Given the description of an element on the screen output the (x, y) to click on. 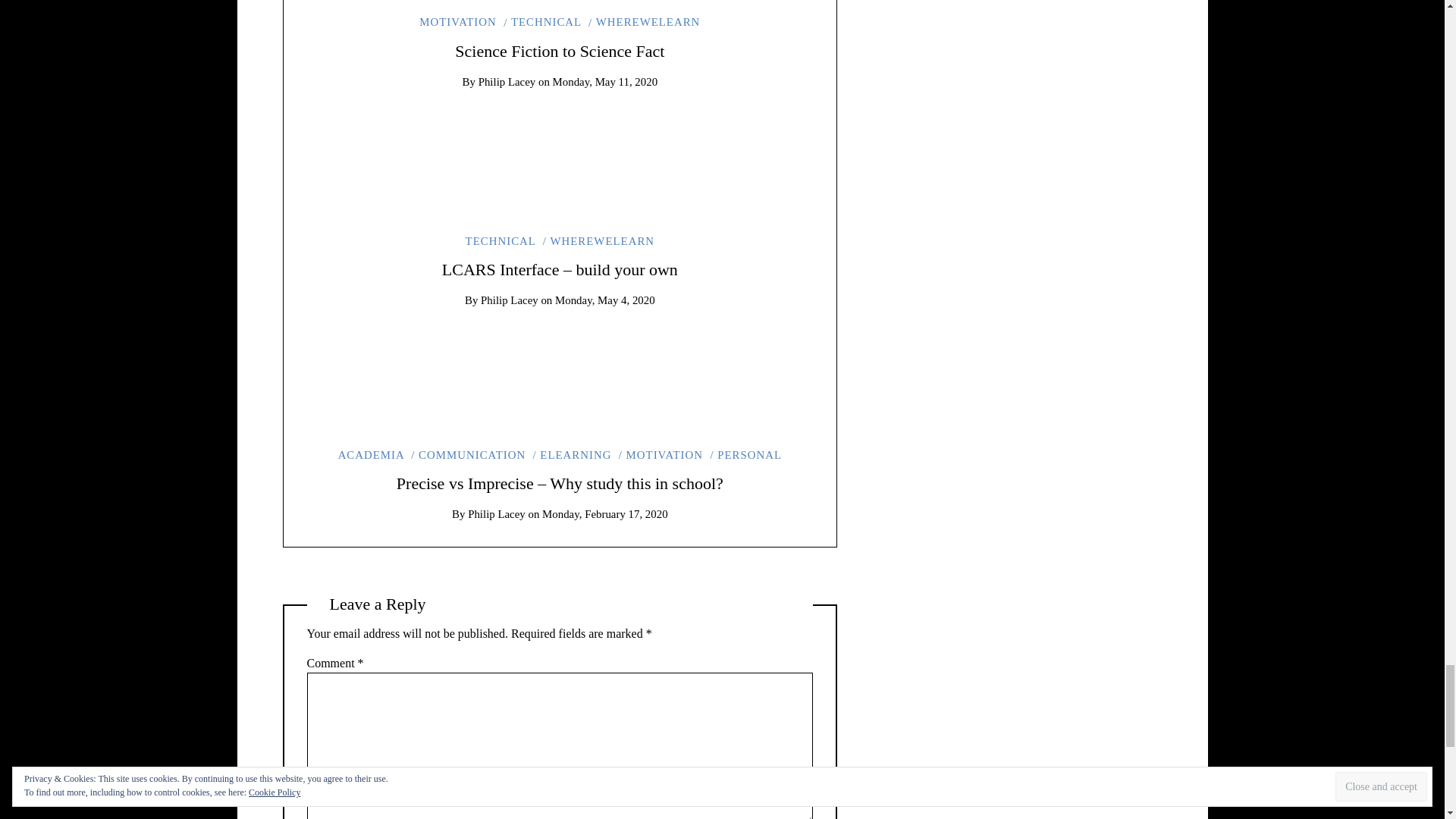
Science Fiction to Science Fact (558, 50)
Posts by Philip Lacey (507, 81)
